Given the description of an element on the screen output the (x, y) to click on. 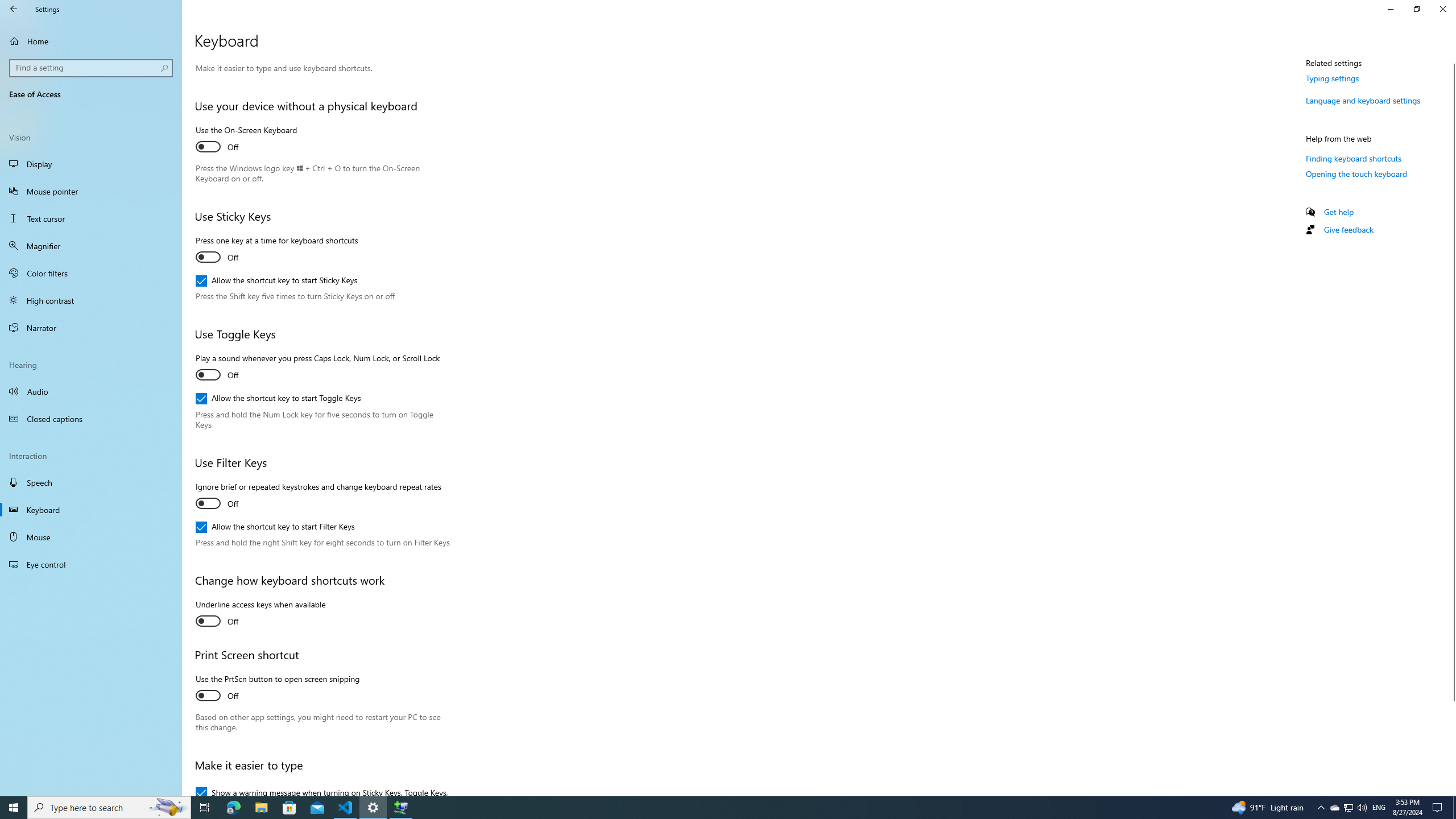
Language and keyboard settings (1333, 807)
Allow the shortcut key to start Toggle Keys (1363, 100)
Extensible Wizards Host Process - 1 running window (1347, 807)
Press one key at a time for keyboard shortcuts (278, 398)
Search highlights icon opens search home window (400, 807)
File Explorer (276, 250)
Microsoft Store (167, 807)
Show desktop (261, 807)
Mouse (289, 807)
Visual Studio Code - 1 running window (1454, 807)
Opening the touch keyboard (91, 536)
